Given the description of an element on the screen output the (x, y) to click on. 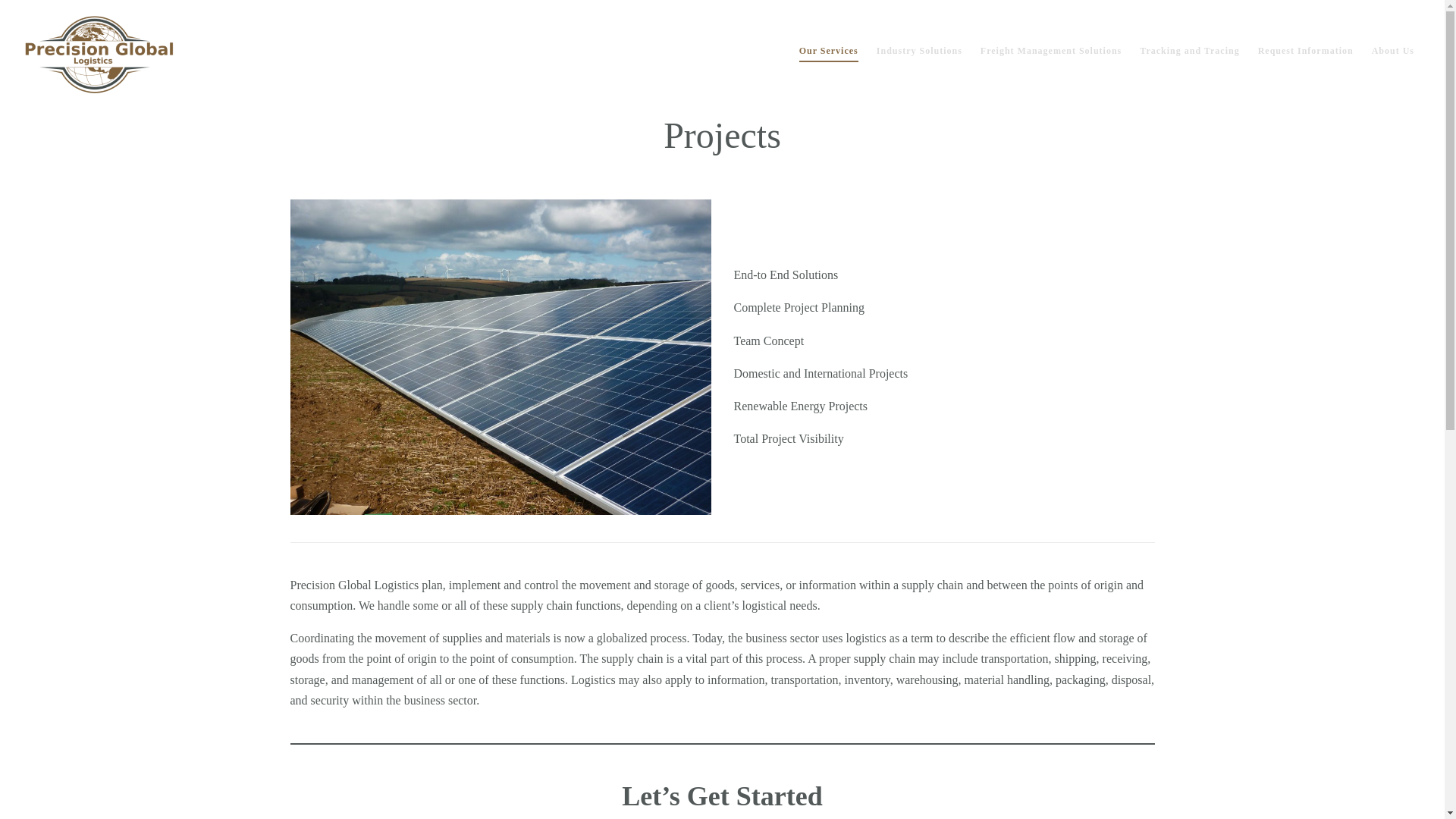
Industry Solutions (919, 50)
Tracking and Tracing (1189, 50)
Freight Management Solutions (1051, 50)
solar-2796471-scaled (499, 357)
Request Information (1305, 50)
Our Services (833, 50)
About Us (1387, 50)
